Given the description of an element on the screen output the (x, y) to click on. 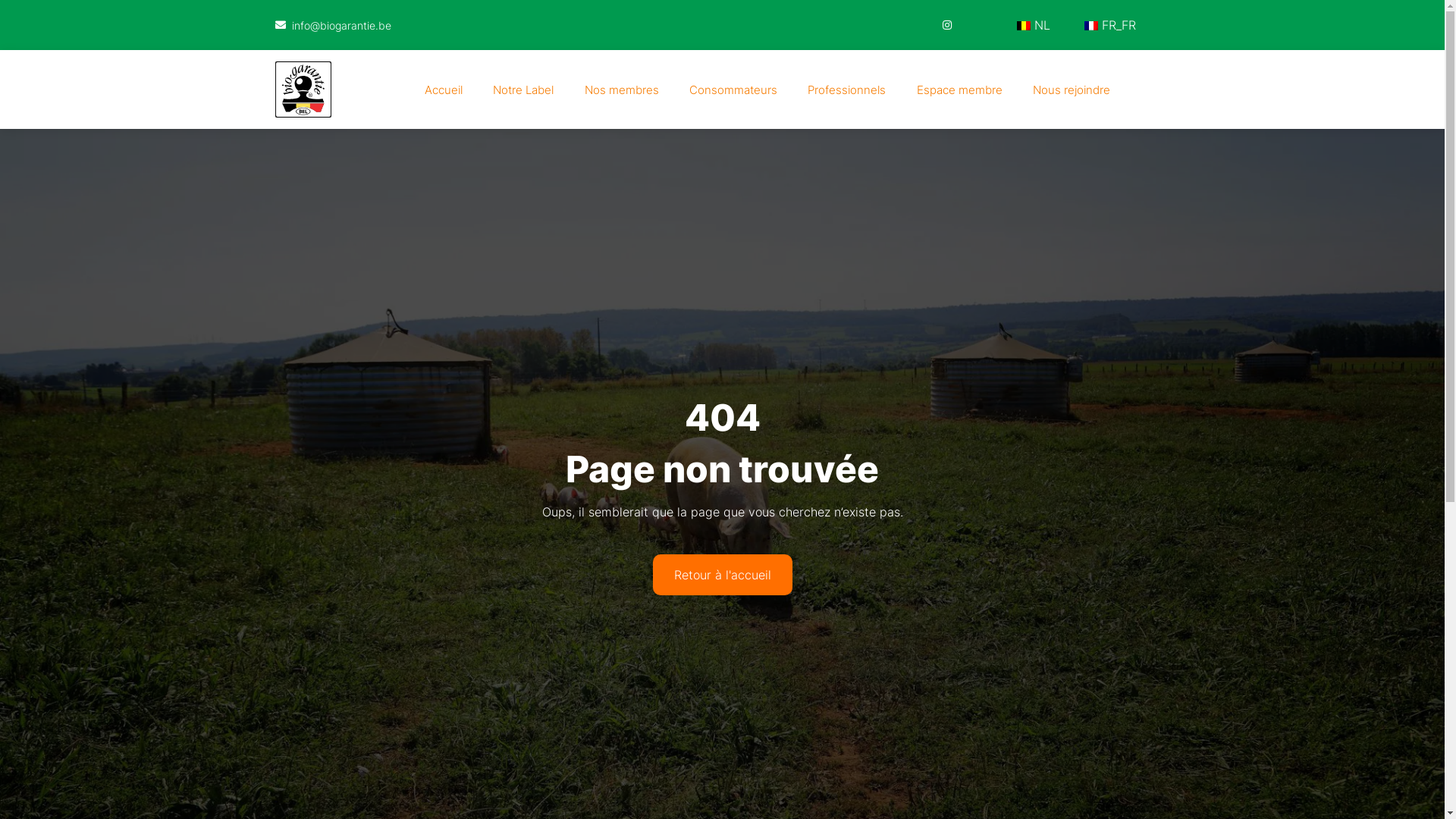
Nos membres Element type: text (621, 89)
Nous rejoindre Element type: text (1071, 89)
Accueil Element type: text (443, 89)
Espace membre Element type: text (959, 89)
Professionnels Element type: text (846, 89)
FR_FR Element type: text (1108, 24)
NL Element type: text (1031, 24)
Consommateurs Element type: text (733, 89)
info@biogarantie.be Element type: text (332, 24)
Notre Label Element type: text (522, 89)
